Given the description of an element on the screen output the (x, y) to click on. 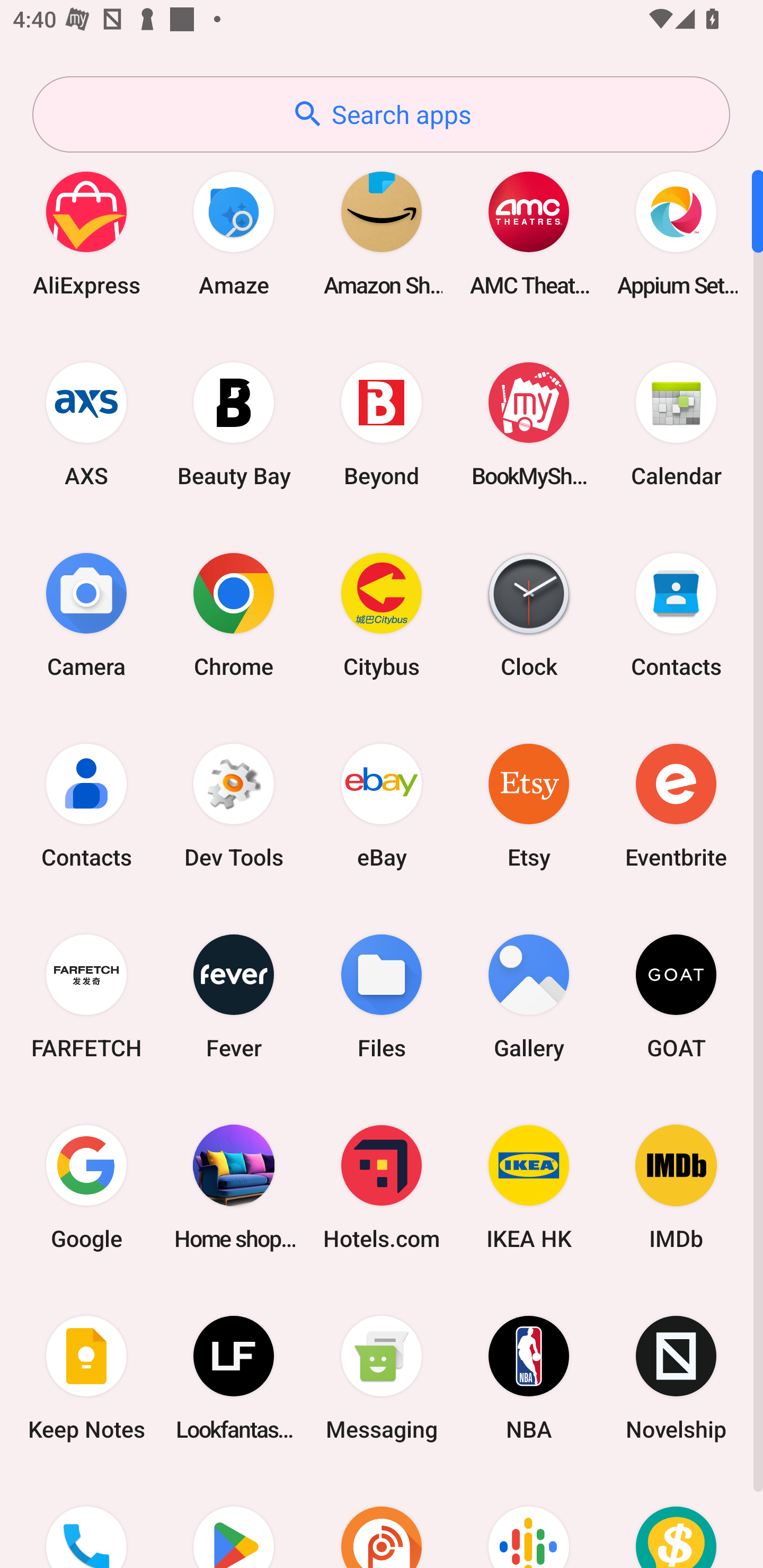
  Search apps (381, 114)
AliExpress (86, 233)
Amaze (233, 233)
Amazon Shopping (381, 233)
AMC Theatres (528, 233)
Appium Settings (676, 233)
AXS (86, 424)
Beauty Bay (233, 424)
Beyond (381, 424)
BookMyShow (528, 424)
Calendar (676, 424)
Camera (86, 614)
Chrome (233, 614)
Citybus (381, 614)
Clock (528, 614)
Contacts (676, 614)
Contacts (86, 805)
Dev Tools (233, 805)
eBay (381, 805)
Etsy (528, 805)
Eventbrite (676, 805)
FARFETCH (86, 996)
Fever (233, 996)
Files (381, 996)
Gallery (528, 996)
GOAT (676, 996)
Google (86, 1186)
Home shopping (233, 1186)
Hotels.com (381, 1186)
IKEA HK (528, 1186)
IMDb (676, 1186)
Keep Notes (86, 1377)
Lookfantastic (233, 1377)
Messaging (381, 1377)
NBA (528, 1377)
Novelship (676, 1377)
Phone (86, 1520)
Play Store (233, 1520)
Podcast Addict (381, 1520)
Podcasts (528, 1520)
Price (676, 1520)
